Given the description of an element on the screen output the (x, y) to click on. 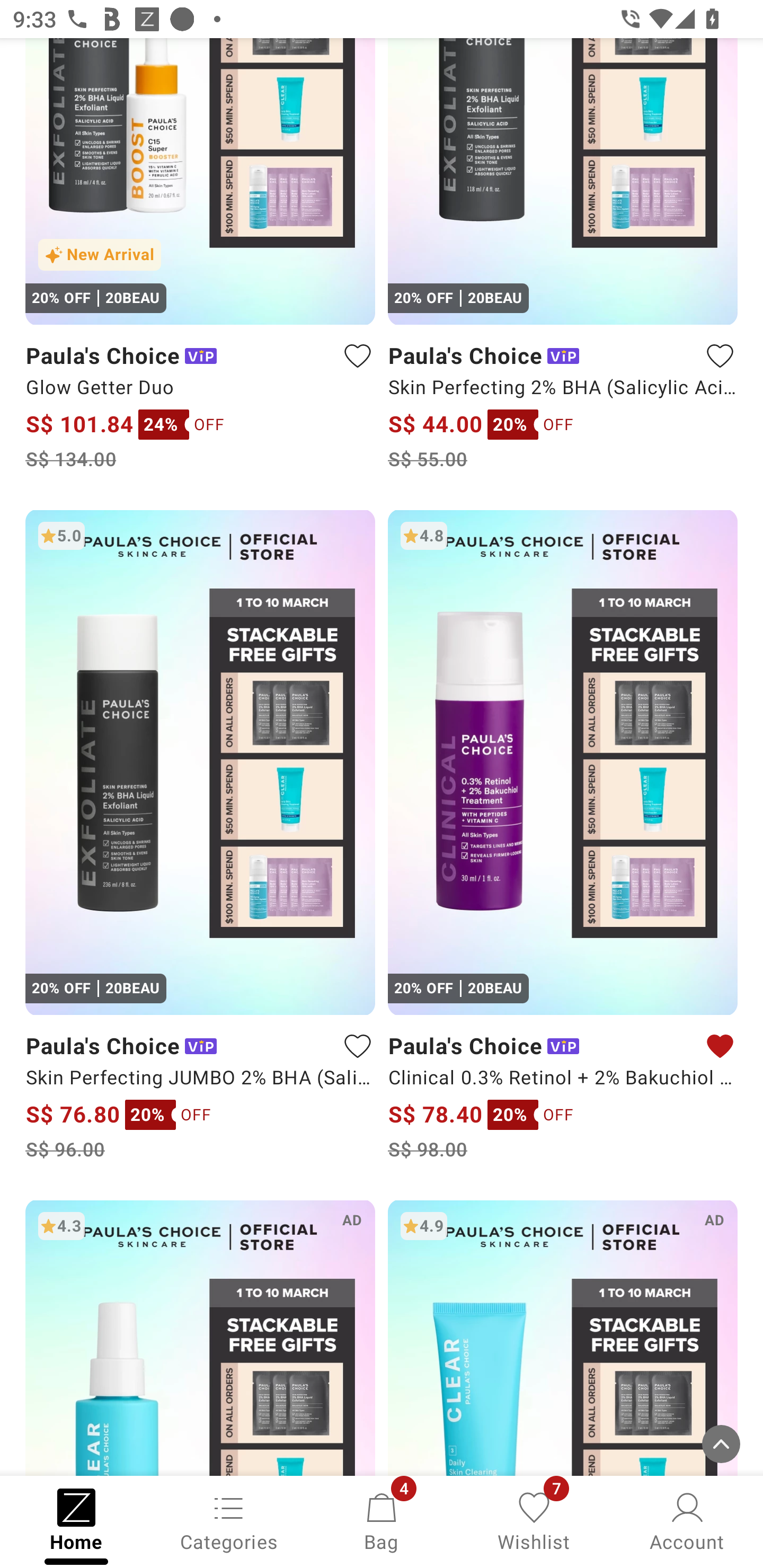
4.3 AD (200, 1337)
4.9 AD (562, 1337)
Categories (228, 1519)
Bag, 4 new notifications Bag (381, 1519)
Wishlist, 7 new notifications Wishlist (533, 1519)
Account (686, 1519)
